Given the description of an element on the screen output the (x, y) to click on. 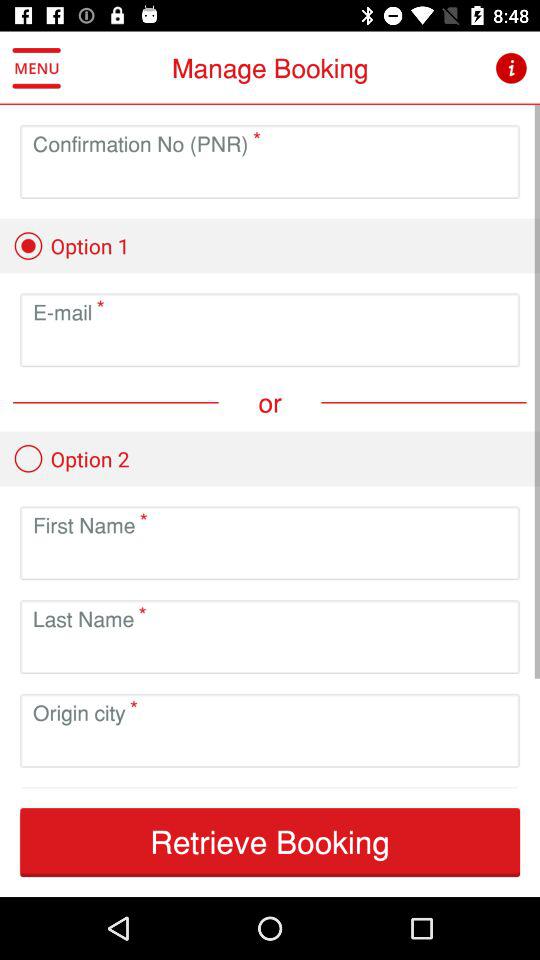
tap the icon next to the manage booking (510, 67)
